Given the description of an element on the screen output the (x, y) to click on. 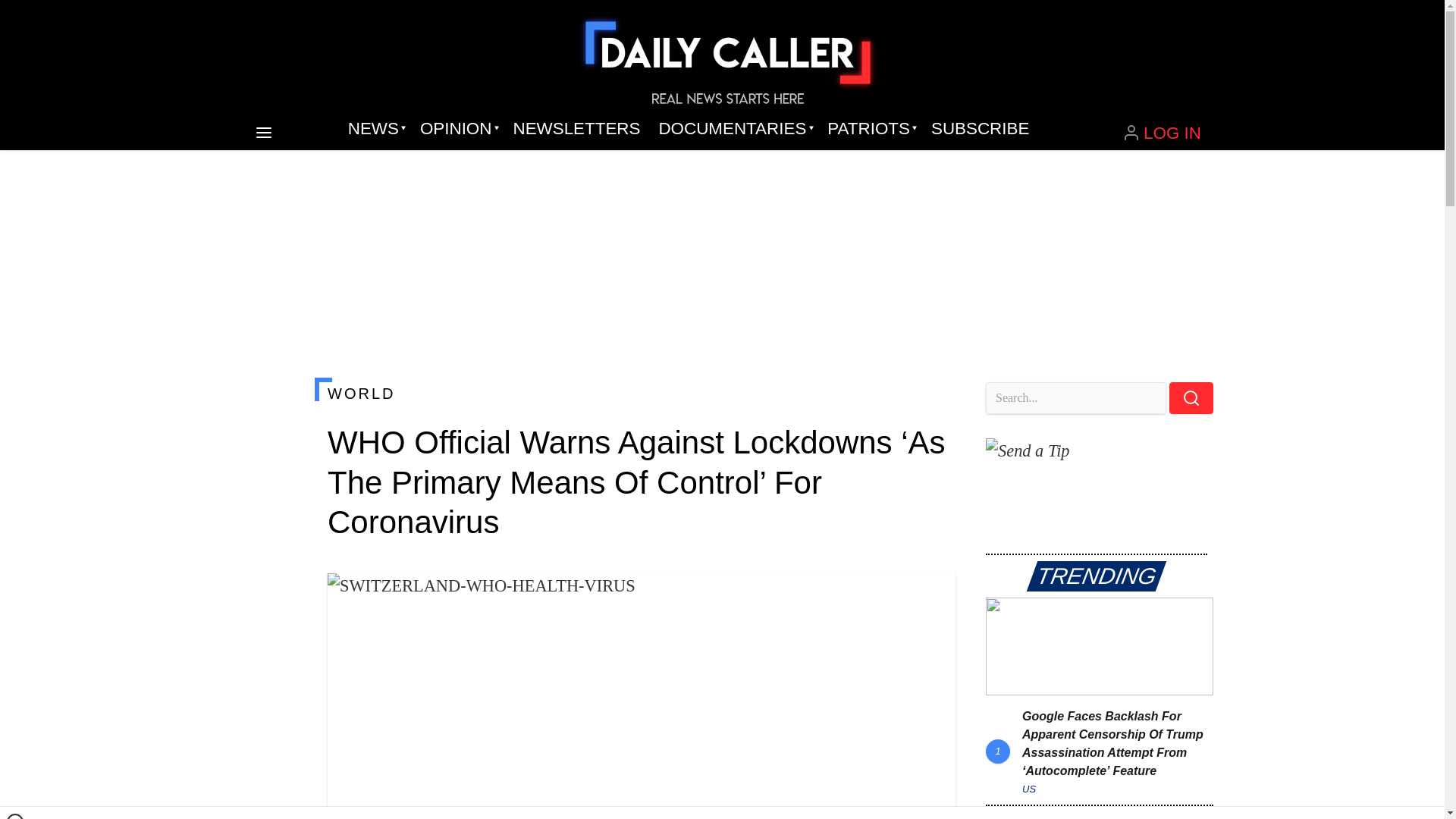
NEWS (374, 128)
PATRIOTS (869, 128)
Close window (14, 816)
OPINION (456, 128)
DOCUMENTARIES (733, 128)
SUBSCRIBE (979, 128)
WORLD (641, 393)
Toggle fullscreen (931, 596)
NEWSLETTERS (576, 128)
